Given the description of an element on the screen output the (x, y) to click on. 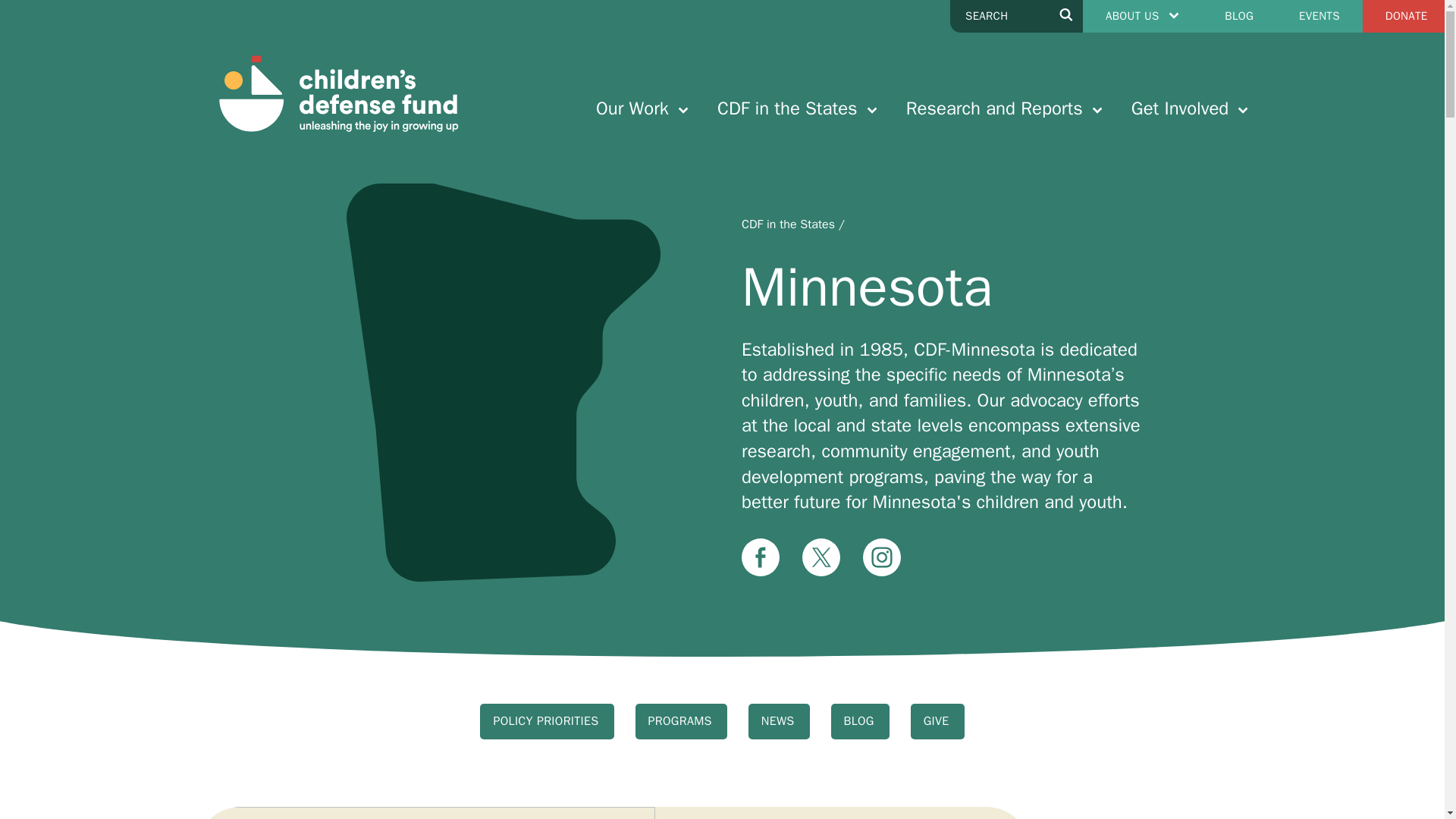
BLOG (1239, 16)
Our Work (641, 107)
EVENTS (1319, 16)
Children's Defense Fund (337, 93)
Submit search (1066, 16)
ABOUT US (1142, 16)
CDF in the States (797, 107)
